Given the description of an element on the screen output the (x, y) to click on. 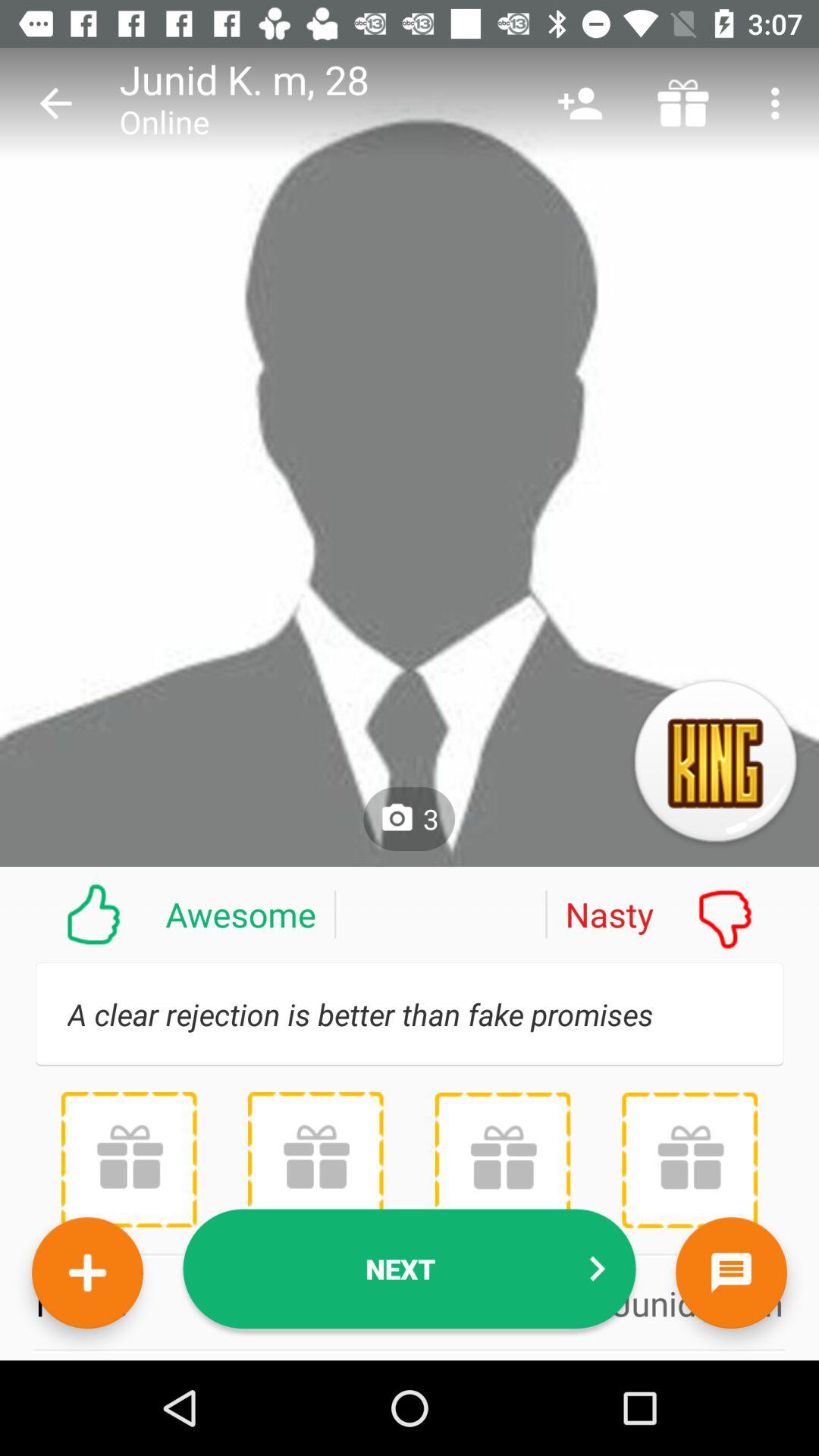
gift coupon (315, 1159)
